Given the description of an element on the screen output the (x, y) to click on. 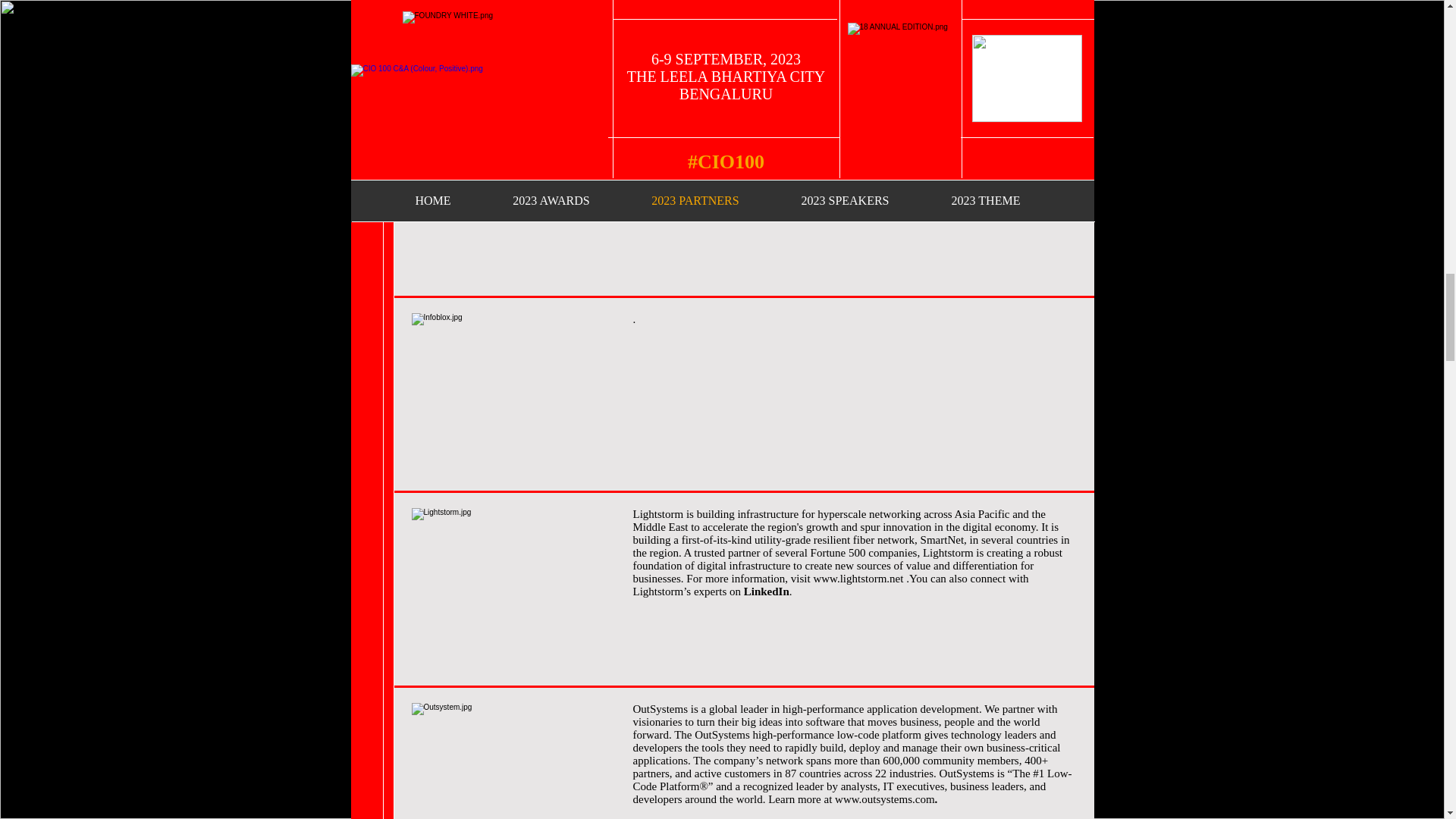
www.lightstorm.net (857, 578)
LinkedIn (766, 591)
www.outsystems.com (884, 799)
Commvault.com (867, 214)
